Given the description of an element on the screen output the (x, y) to click on. 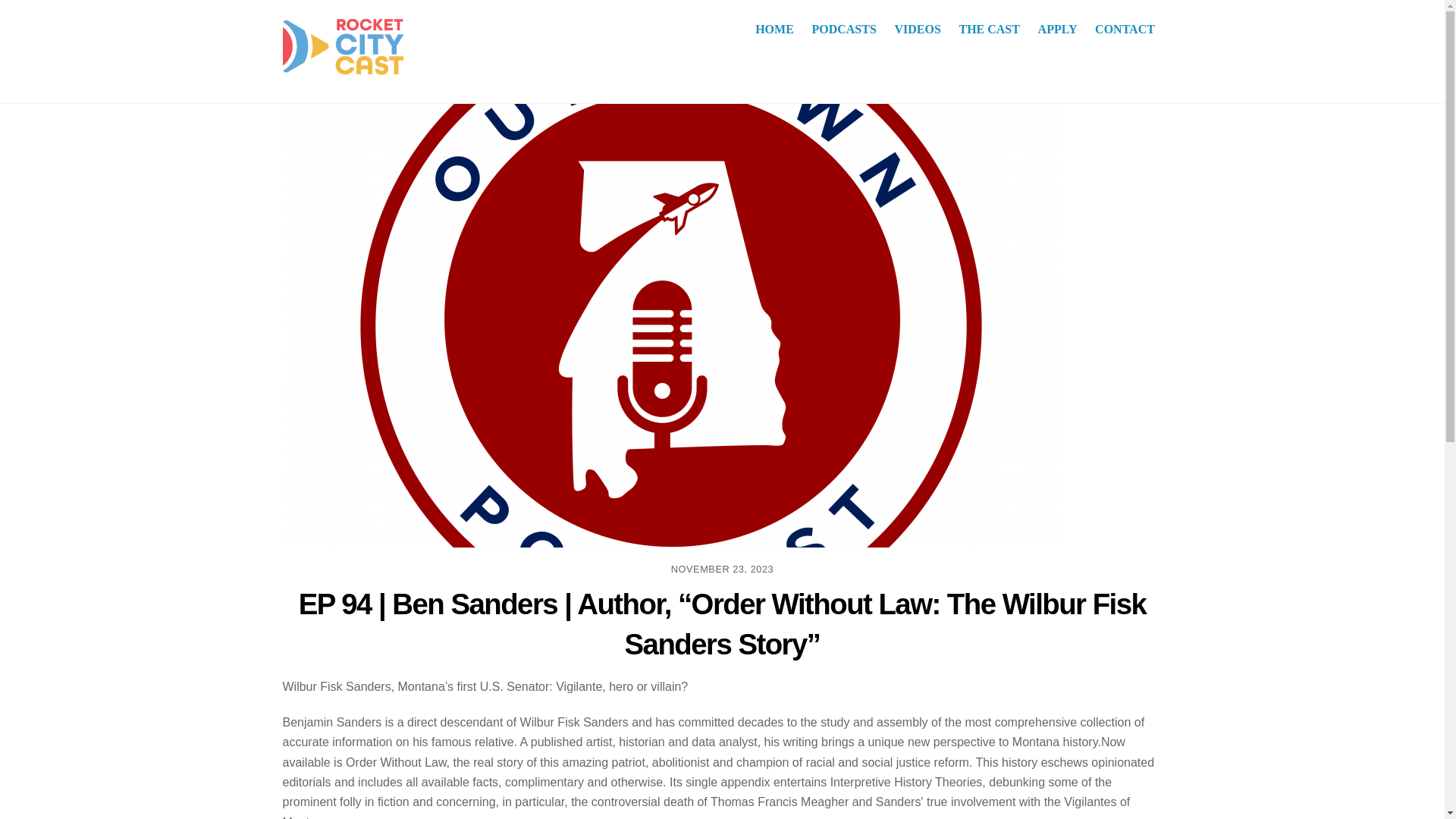
THE CAST (989, 29)
PODCASTS (844, 29)
rocketcitycast (342, 48)
APPLY (1057, 29)
HOME (775, 29)
VIDEOS (917, 29)
CONTACT (1124, 29)
Rocket City Cast (721, 29)
